Given the description of an element on the screen output the (x, y) to click on. 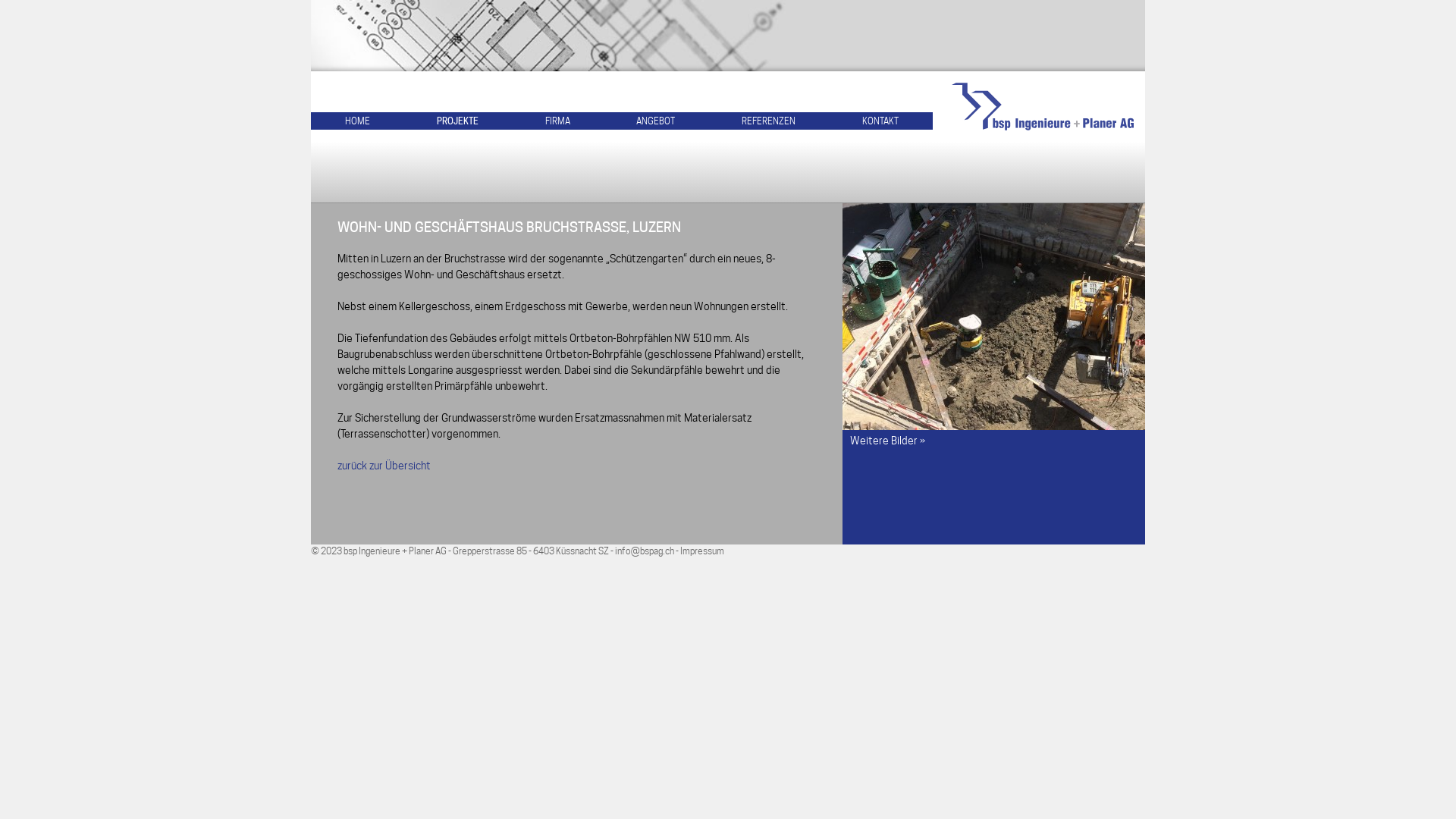
REFERENZEN Element type: text (768, 120)
Impressum Element type: text (702, 550)
ANGEBOT Element type: text (655, 120)
Home Element type: hover (1042, 106)
info@bspag.ch Element type: text (644, 550)
FIRMA Element type: text (557, 120)
KONTAKT Element type: text (880, 120)
PROJEKTE Element type: text (457, 120)
HOME Element type: text (357, 120)
